Given the description of an element on the screen output the (x, y) to click on. 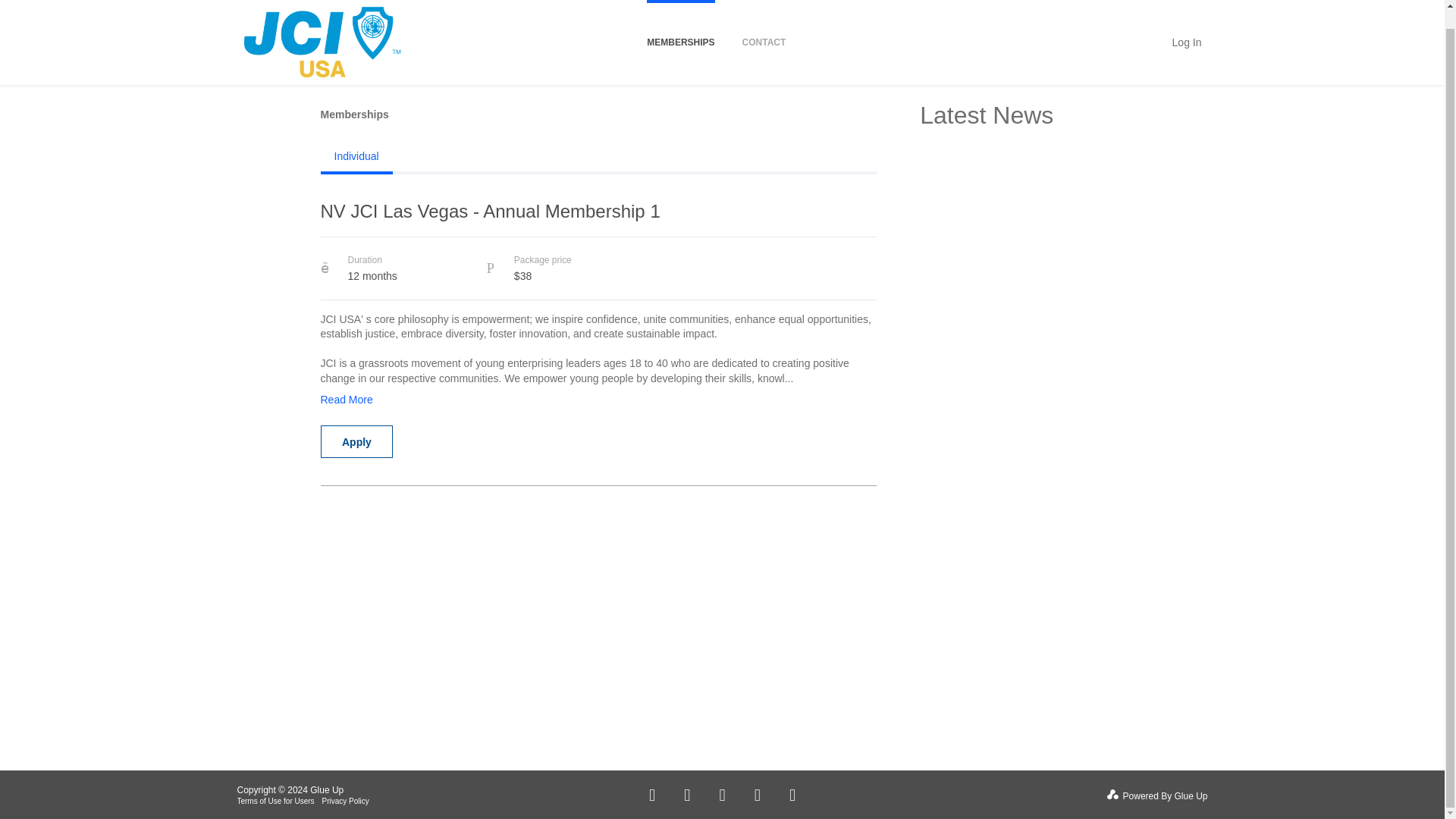
JCI Las Vegas logo (320, 33)
Terms of Use for Users (274, 800)
MEMBERSHIPS (680, 31)
Read More (346, 396)
MEMBERSHIPS (680, 31)
Privacy Policy (345, 800)
Apply (356, 441)
NV JCI Las Vegas - Annual Membership 1 (598, 218)
Individual (355, 155)
